Given the description of an element on the screen output the (x, y) to click on. 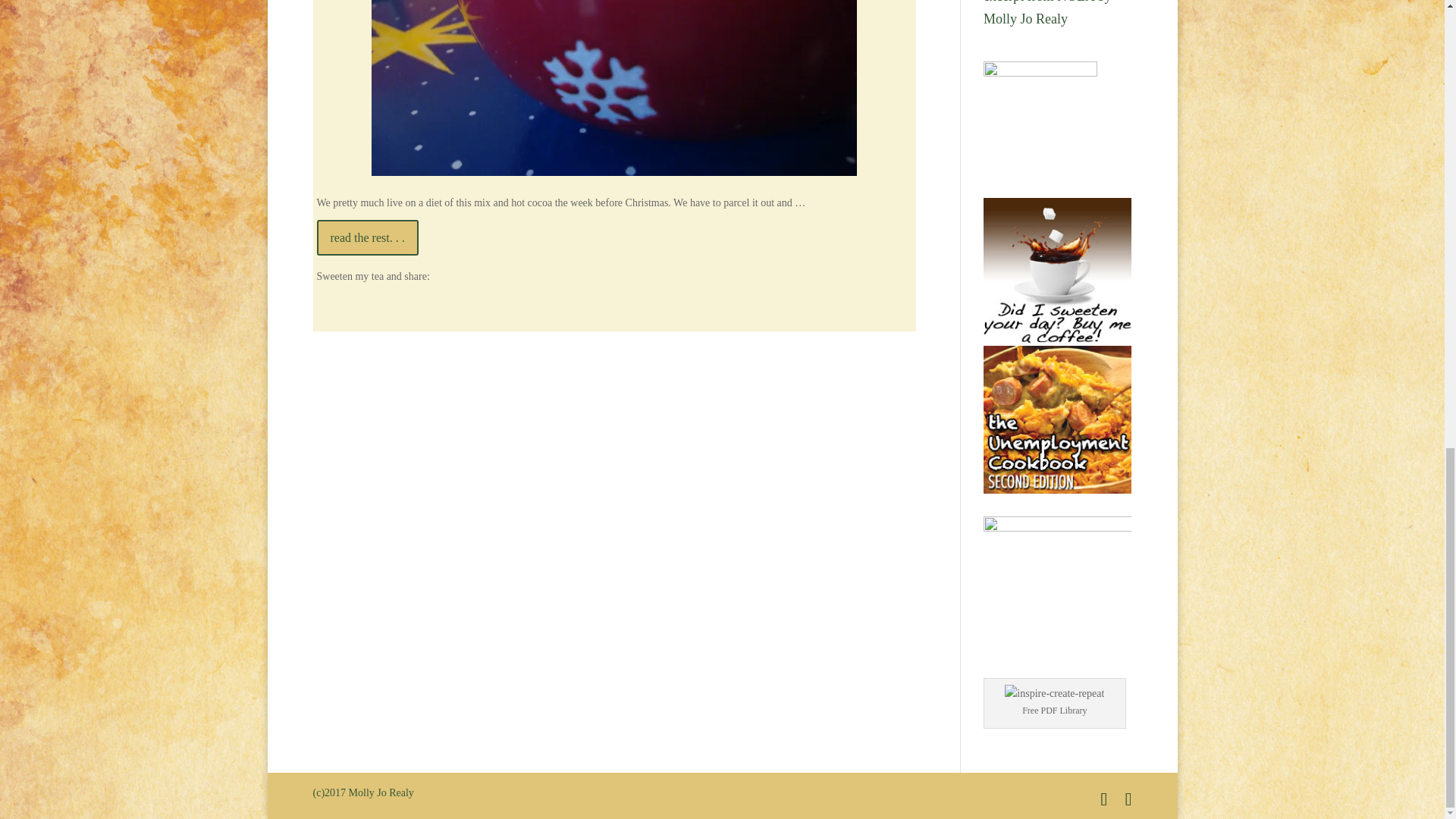
read the rest. . . (368, 237)
Holiday Doo Dads (614, 88)
